Given the description of an element on the screen output the (x, y) to click on. 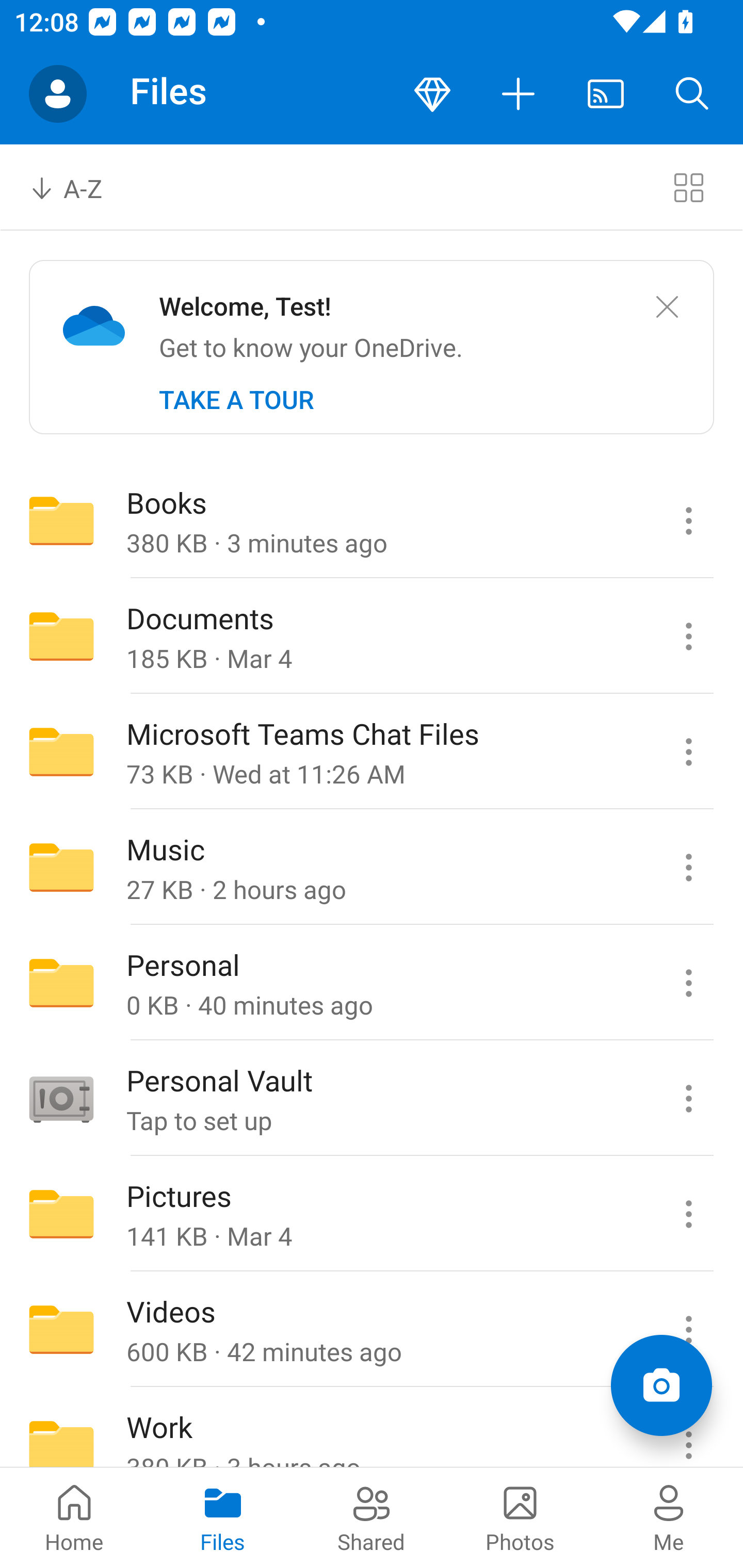
Account switcher (57, 93)
Cast. Disconnected (605, 93)
Premium button (432, 93)
More actions button (518, 93)
Search button (692, 93)
A-Z Sort by combo box, sort by name, A to Z (80, 187)
Switch to tiles view (688, 187)
Close (667, 307)
TAKE A TOUR (236, 399)
Folder Books 380 KB · 3 minutes ago Books commands (371, 520)
Books commands (688, 520)
Folder Documents 185 KB · Mar 4 Documents commands (371, 636)
Documents commands (688, 636)
Microsoft Teams Chat Files commands (688, 751)
Folder Music 27 KB · 2 hours ago Music commands (371, 867)
Music commands (688, 867)
Personal commands (688, 983)
Personal Vault commands (688, 1099)
Folder Pictures 141 KB · Mar 4 Pictures commands (371, 1214)
Pictures commands (688, 1214)
Videos commands (688, 1329)
Add items Scan (660, 1385)
Folder Work 380 KB · 3 hours ago Work commands (371, 1427)
Work commands (688, 1427)
Home pivot Home (74, 1517)
Shared pivot Shared (371, 1517)
Photos pivot Photos (519, 1517)
Me pivot Me (668, 1517)
